Given the description of an element on the screen output the (x, y) to click on. 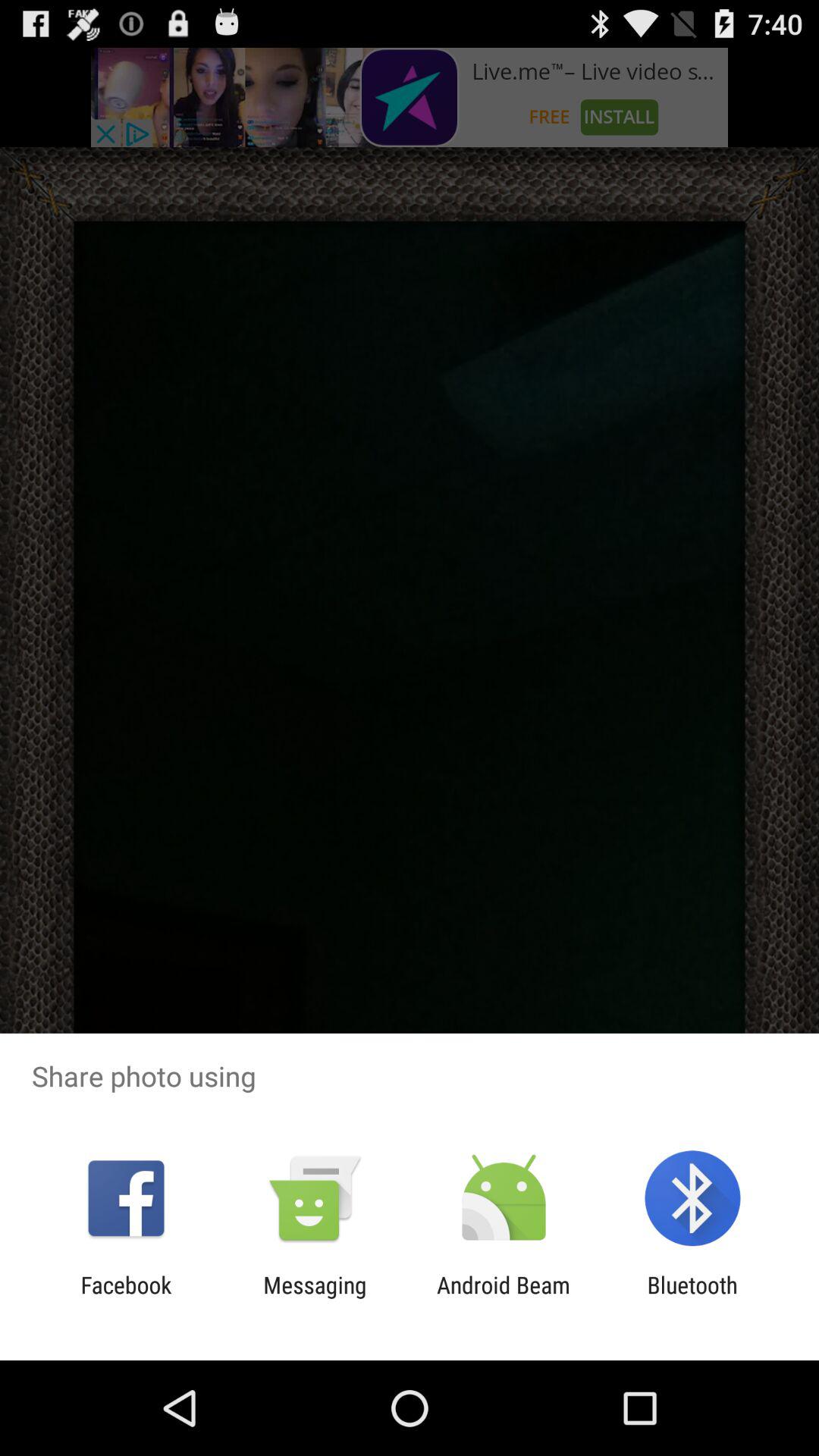
open bluetooth app (692, 1298)
